Given the description of an element on the screen output the (x, y) to click on. 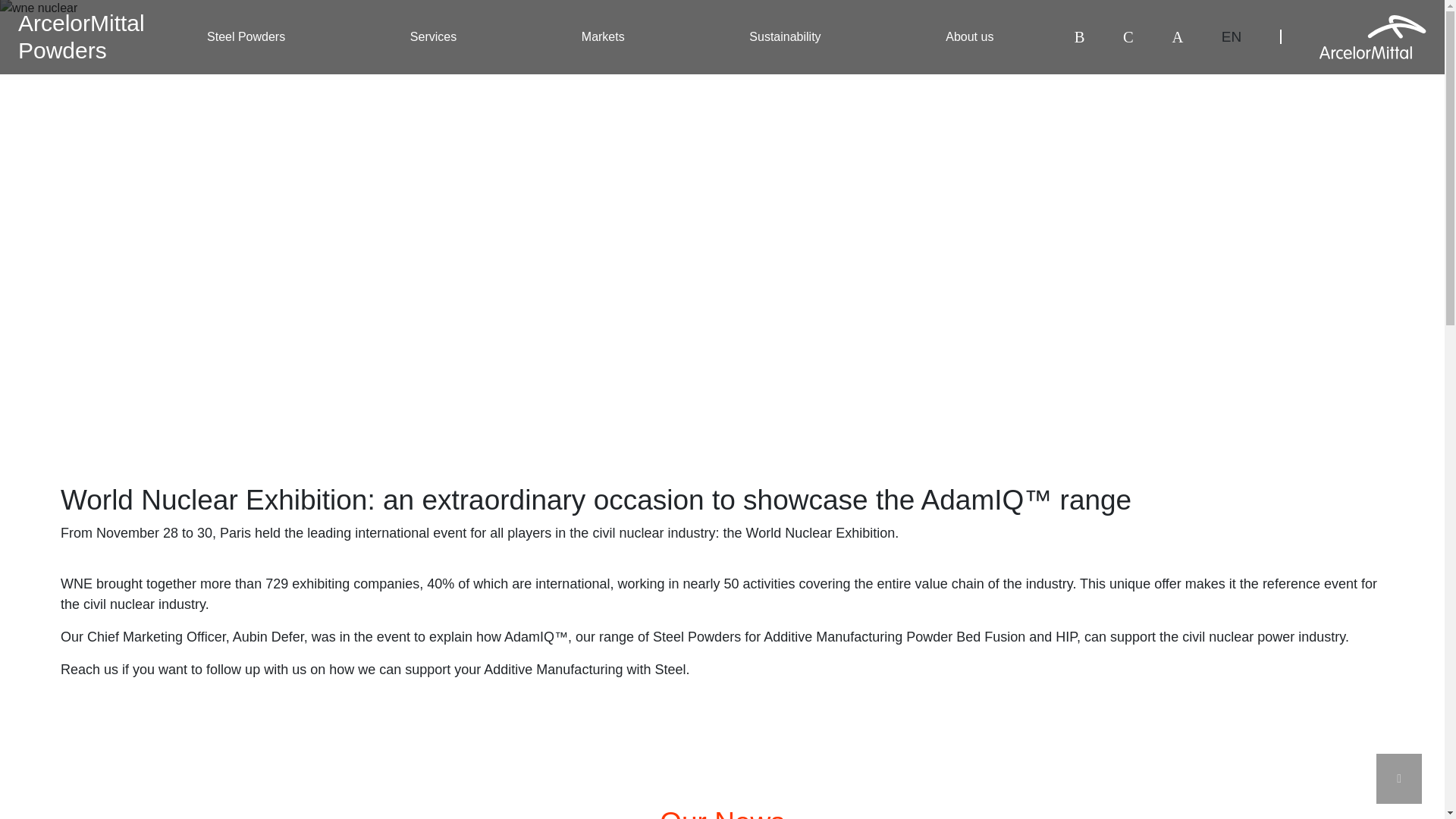
About us (968, 37)
Services (433, 37)
Sustainability (80, 36)
Markets (784, 37)
Steel Powders (602, 37)
